Given the description of an element on the screen output the (x, y) to click on. 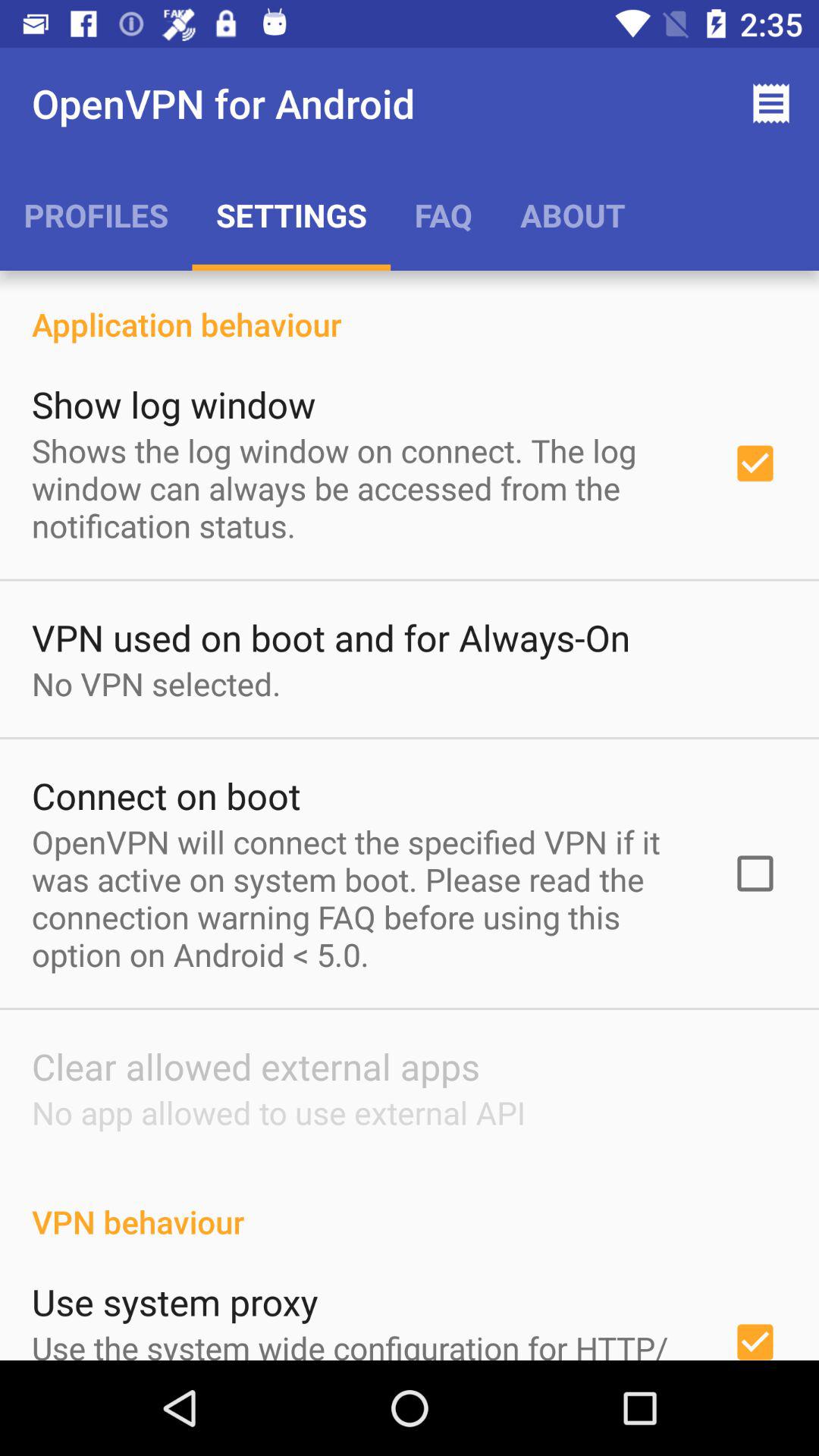
swipe until no app allowed icon (278, 1112)
